Given the description of an element on the screen output the (x, y) to click on. 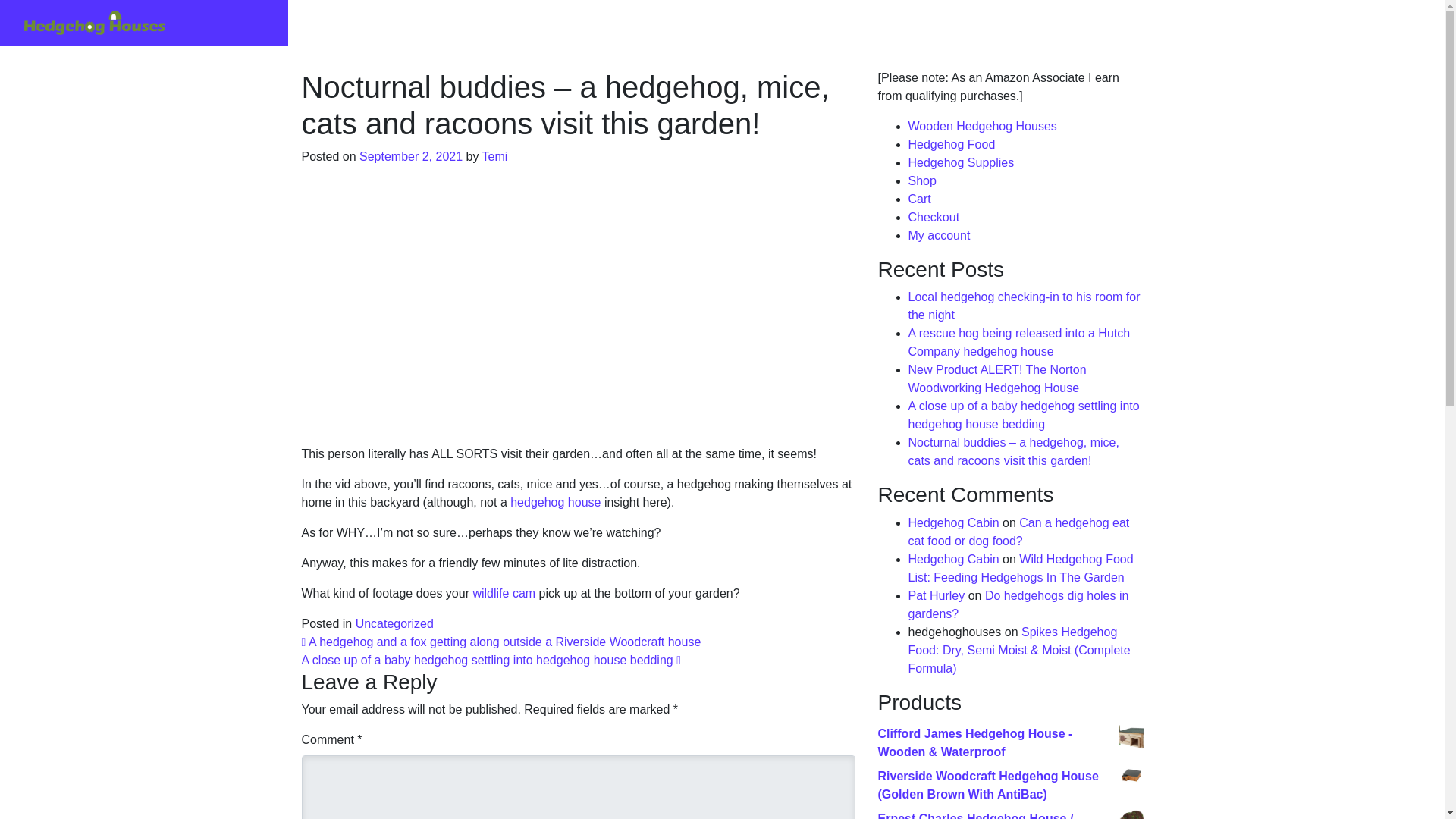
New Product ALERT! The Norton Woodworking Hedgehog House (997, 378)
hedgehog house (555, 502)
Shop (922, 180)
Can a hedgehog eat cat food or dog food? (1018, 531)
Do hedgehogs dig holes in gardens? (1018, 603)
Wild Hedgehog Food List: Feeding Hedgehogs In The Garden (1021, 567)
Hedgehog Cabin (953, 522)
Local hedgehog checking-in to his room for the night (1024, 305)
